Given the description of an element on the screen output the (x, y) to click on. 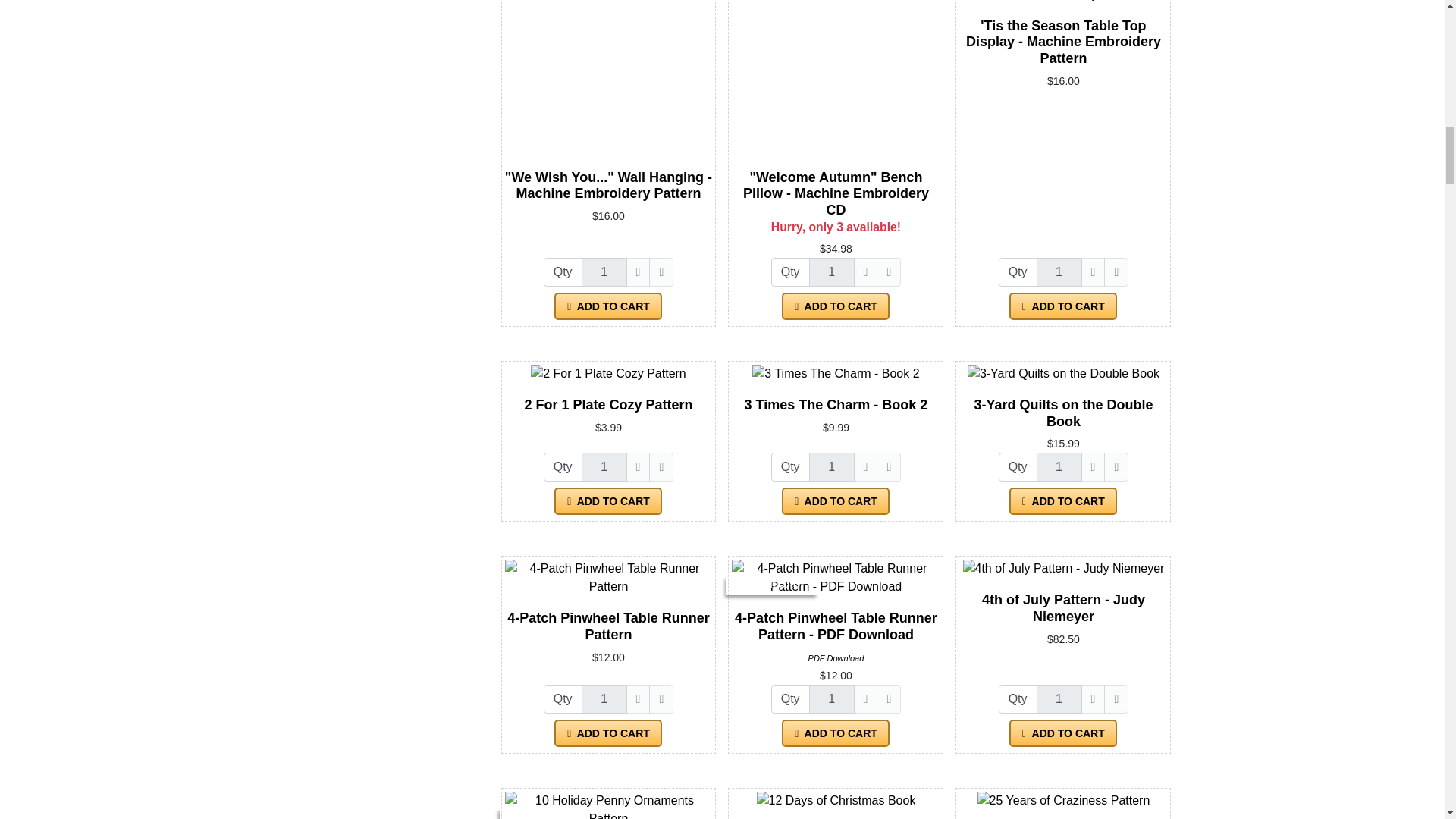
1 (1058, 271)
1 (831, 271)
1 (603, 698)
1 (603, 271)
1 (603, 466)
1 (1058, 698)
1 (1058, 466)
1 (831, 466)
1 (831, 698)
